Given the description of an element on the screen output the (x, y) to click on. 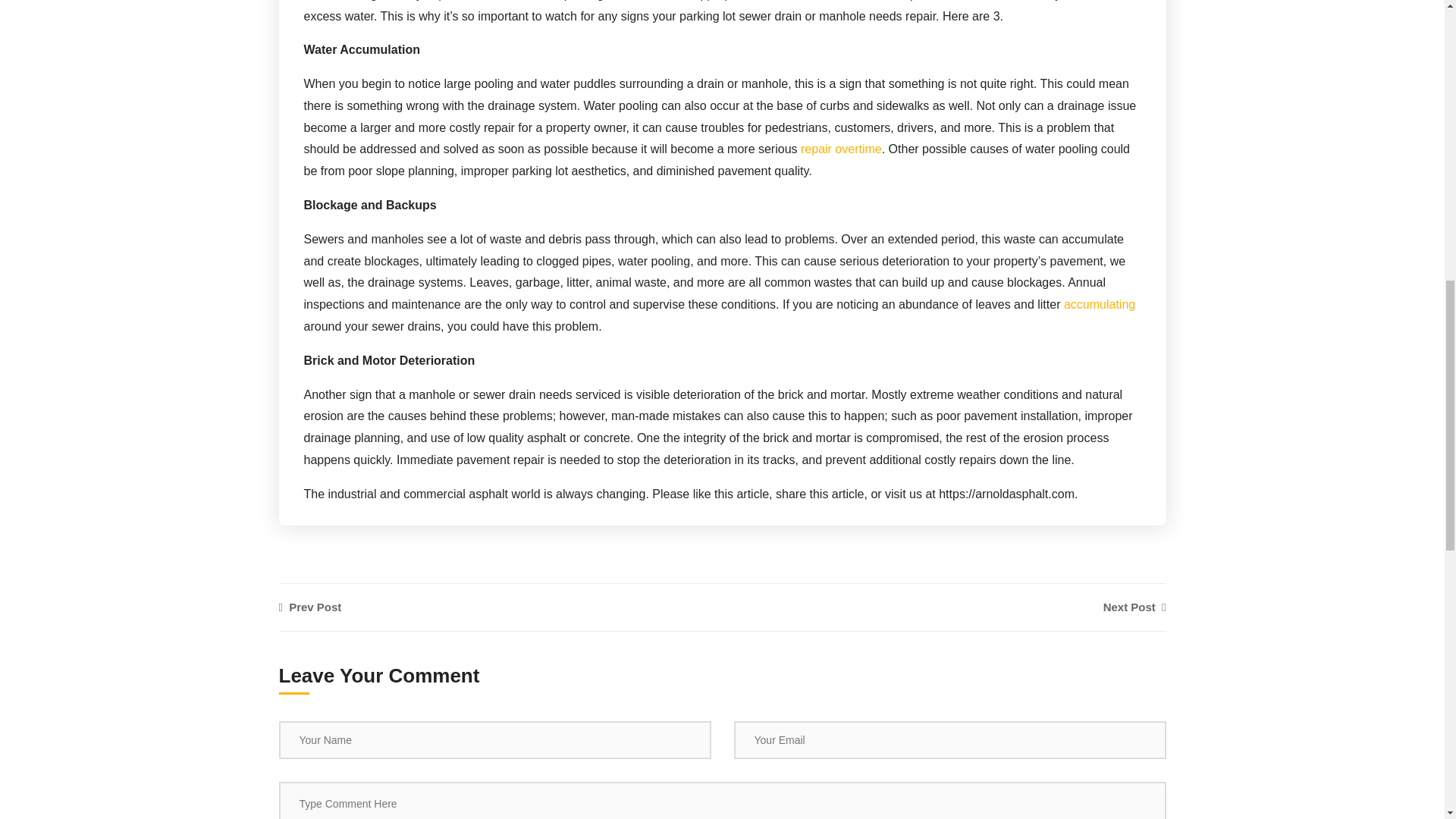
repair overtime (841, 148)
Next Post (1134, 607)
Prev Post (683, 607)
accumulating (1099, 304)
